Given the description of an element on the screen output the (x, y) to click on. 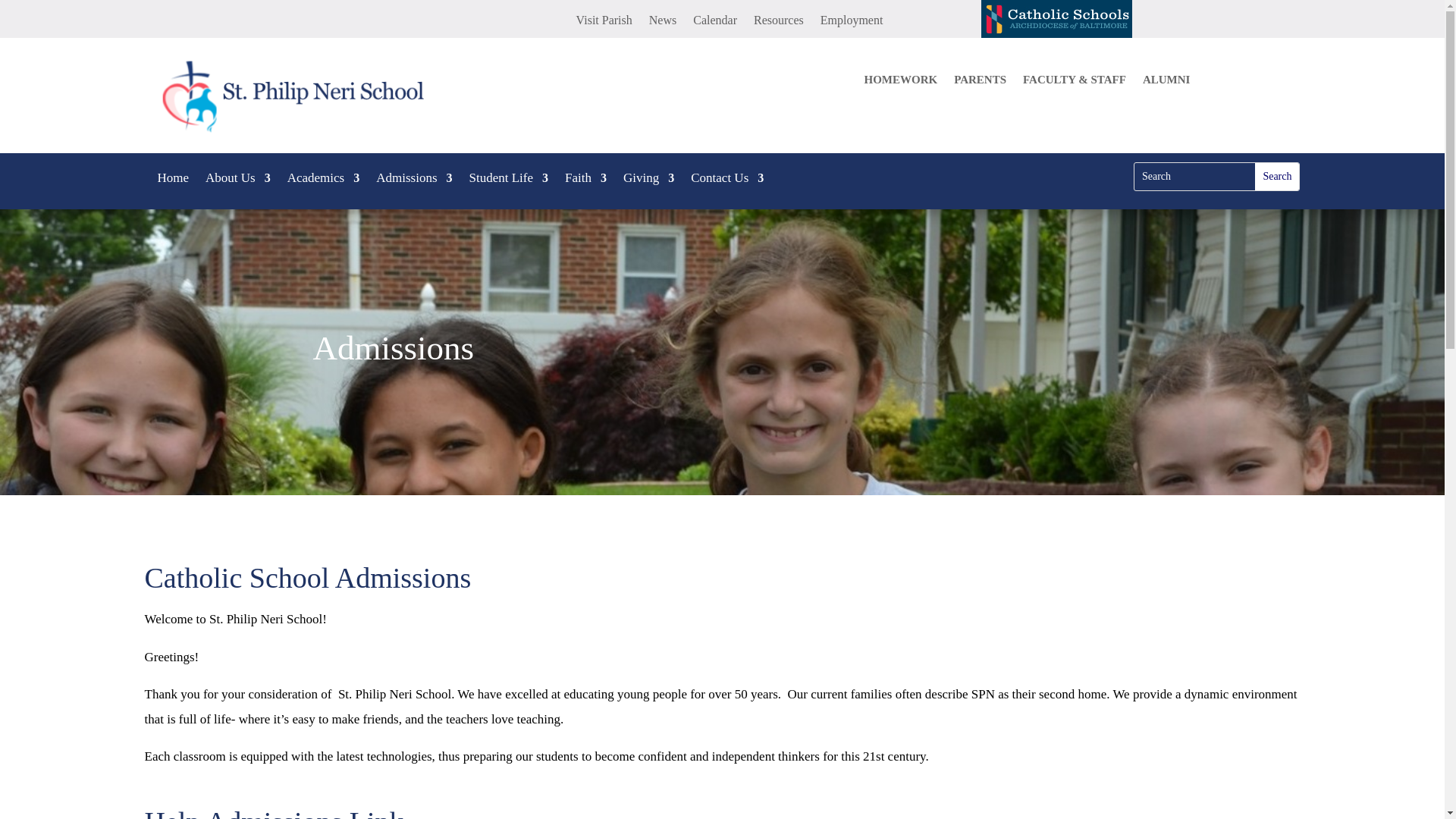
Employment (852, 23)
Search (1276, 176)
Calendar (714, 23)
HOMEWORK (900, 82)
PARENTS (979, 82)
News (663, 23)
Resources (778, 23)
Screen Shot 2022-05-22 at 11.19.46 AM (307, 95)
Search (1276, 176)
ALUMNI (1166, 82)
Visit Parish (603, 23)
CSAOB (1056, 18)
